Given the description of an element on the screen output the (x, y) to click on. 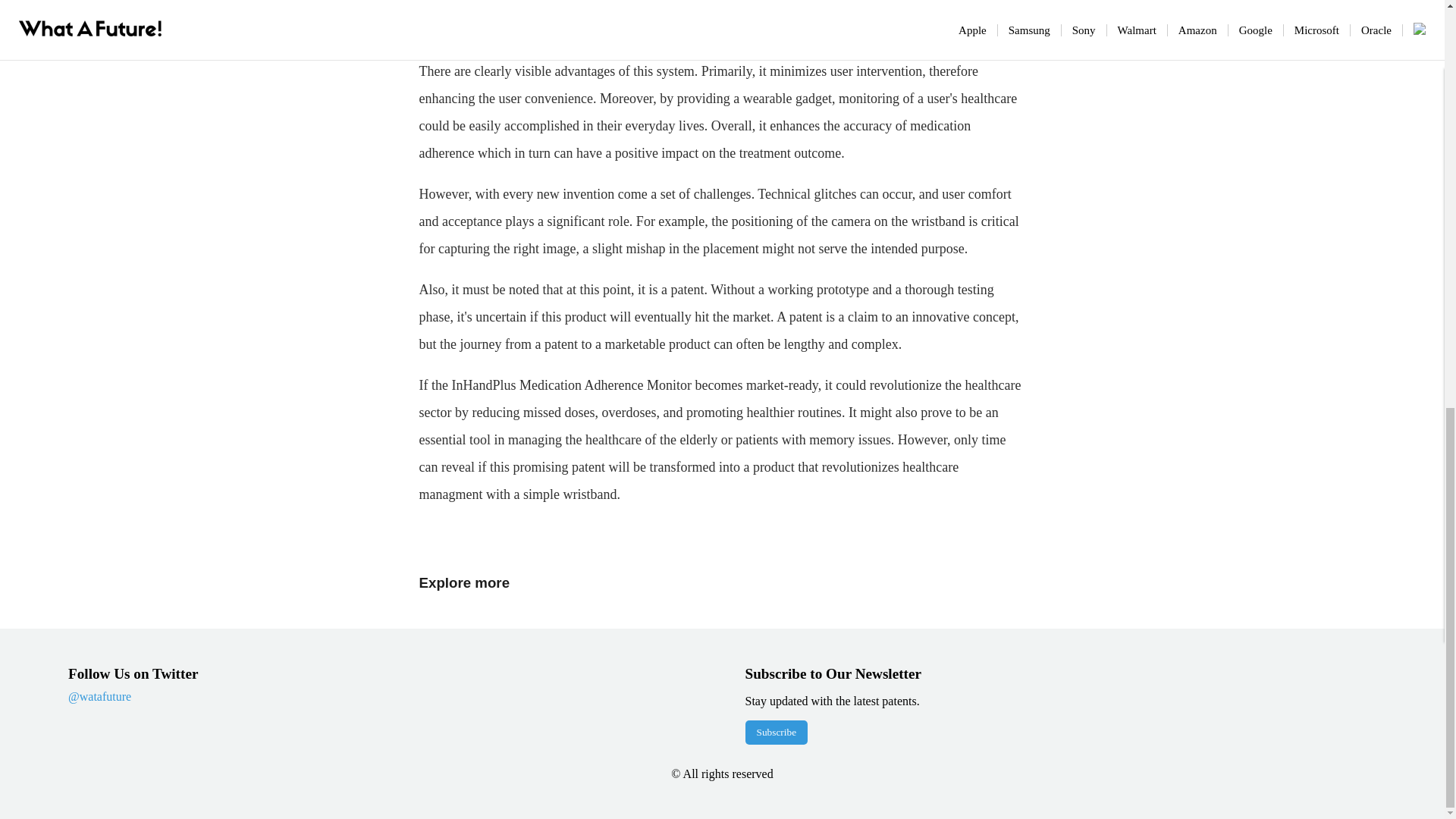
Subscribe (776, 732)
